Given the description of an element on the screen output the (x, y) to click on. 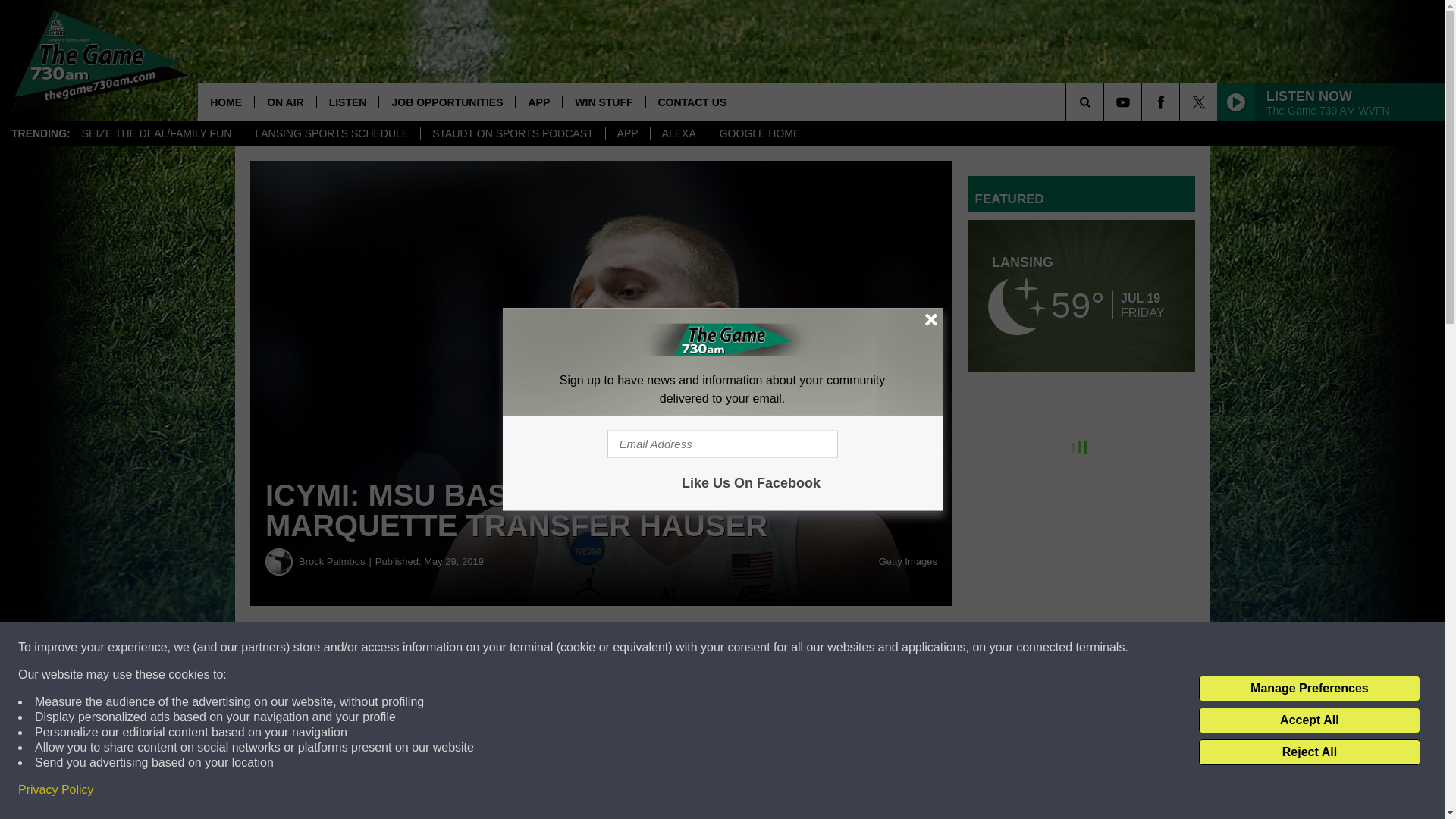
Share on Twitter (741, 647)
ON AIR (284, 102)
STAUDT ON SPORTS PODCAST (512, 133)
Accept All (1309, 720)
JOB OPPORTUNITIES (446, 102)
HOME (225, 102)
SEARCH (1106, 102)
APP (627, 133)
LISTEN (346, 102)
Reject All (1309, 751)
Manage Preferences (1309, 688)
APP (538, 102)
Privacy Policy (55, 789)
LANSING SPORTS SCHEDULE (331, 133)
CONTACT US (691, 102)
